Given the description of an element on the screen output the (x, y) to click on. 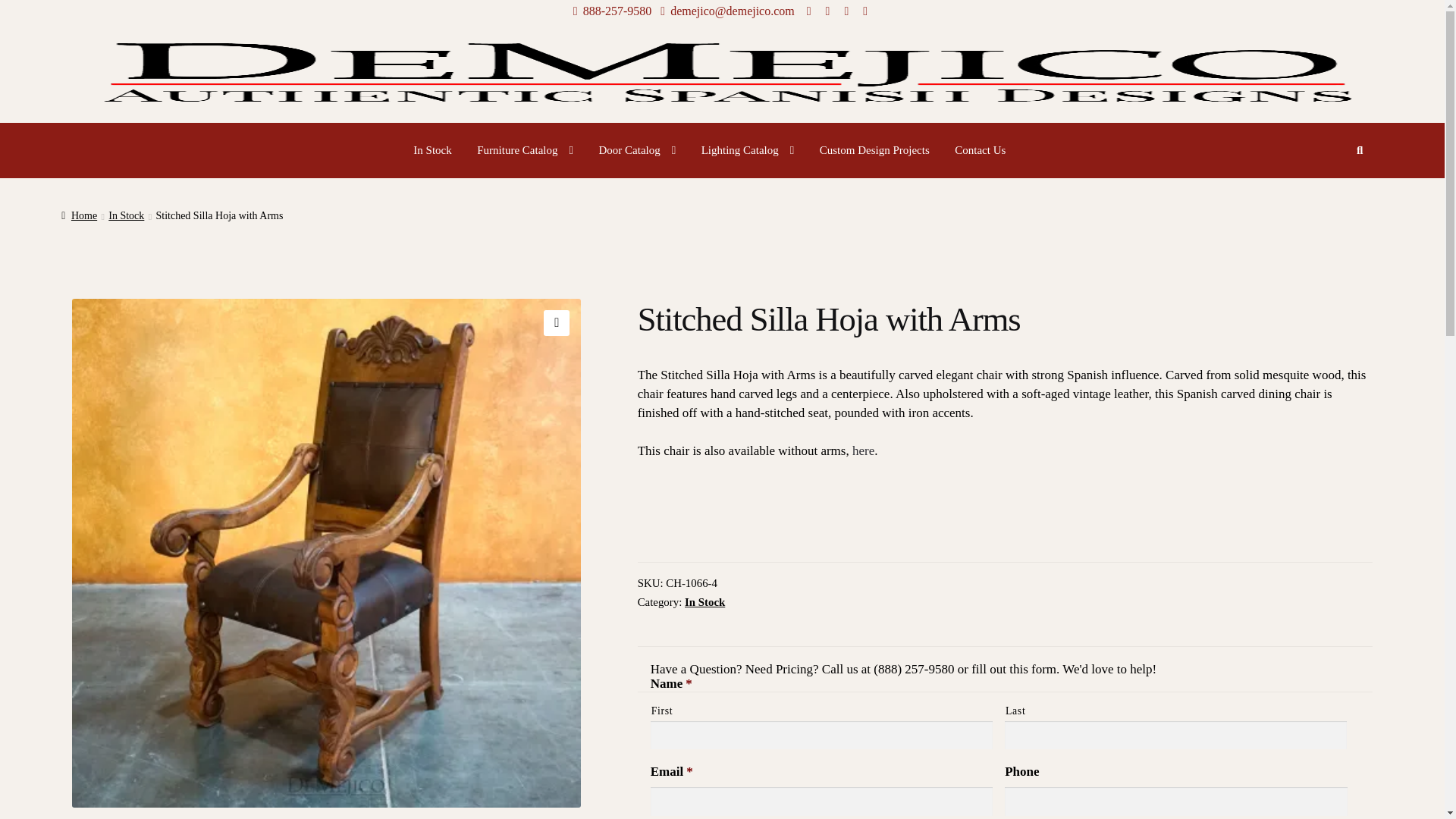
In Stock (432, 150)
Furniture Catalog (525, 150)
888-257-9580 (609, 10)
